Given the description of an element on the screen output the (x, y) to click on. 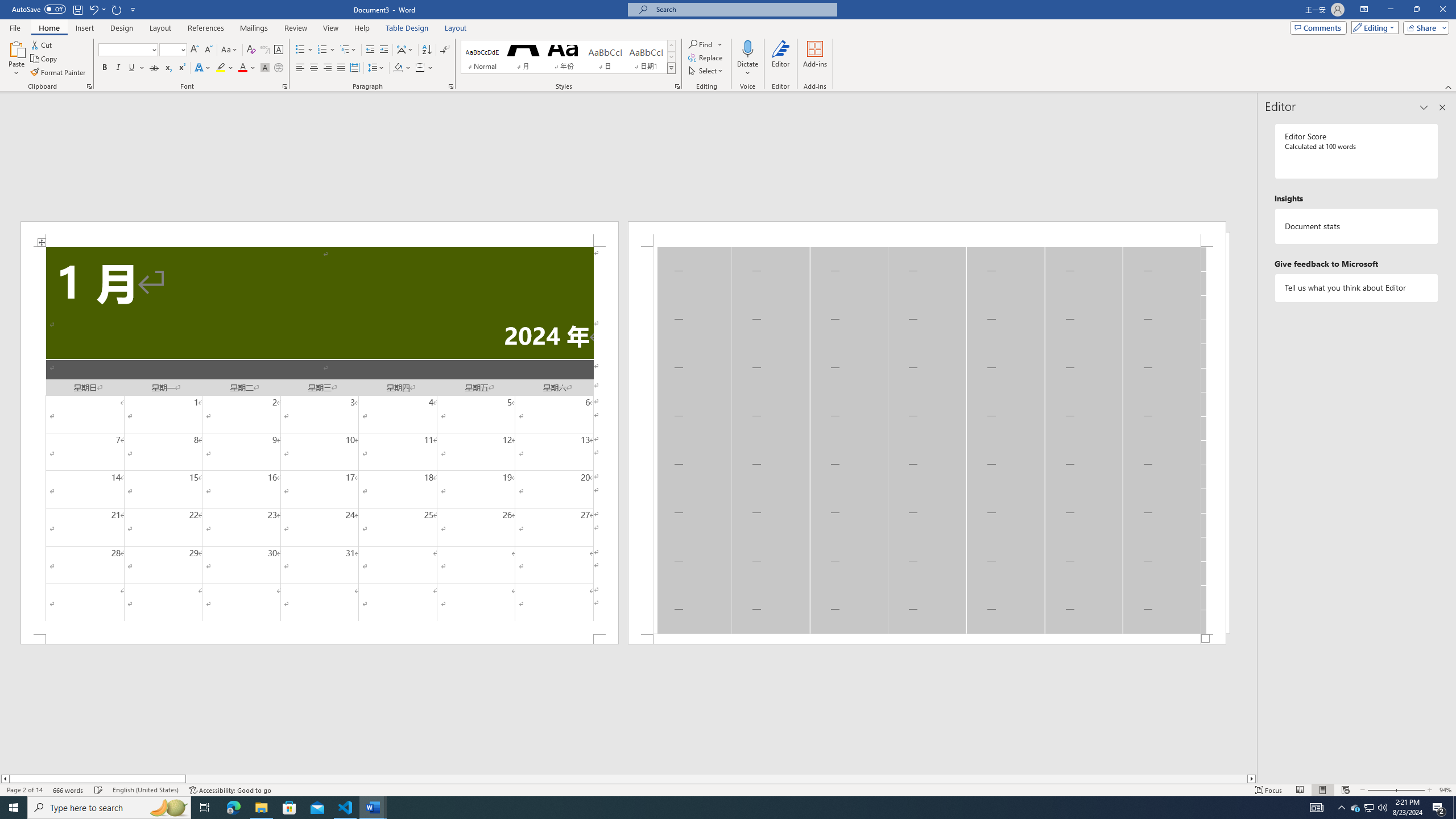
Enclose Characters... (278, 67)
Align Left (300, 67)
Class: NetUIScrollBar (628, 778)
Change Case (229, 49)
Microsoft search (742, 9)
Show/Hide Editing Marks (444, 49)
